Given the description of an element on the screen output the (x, y) to click on. 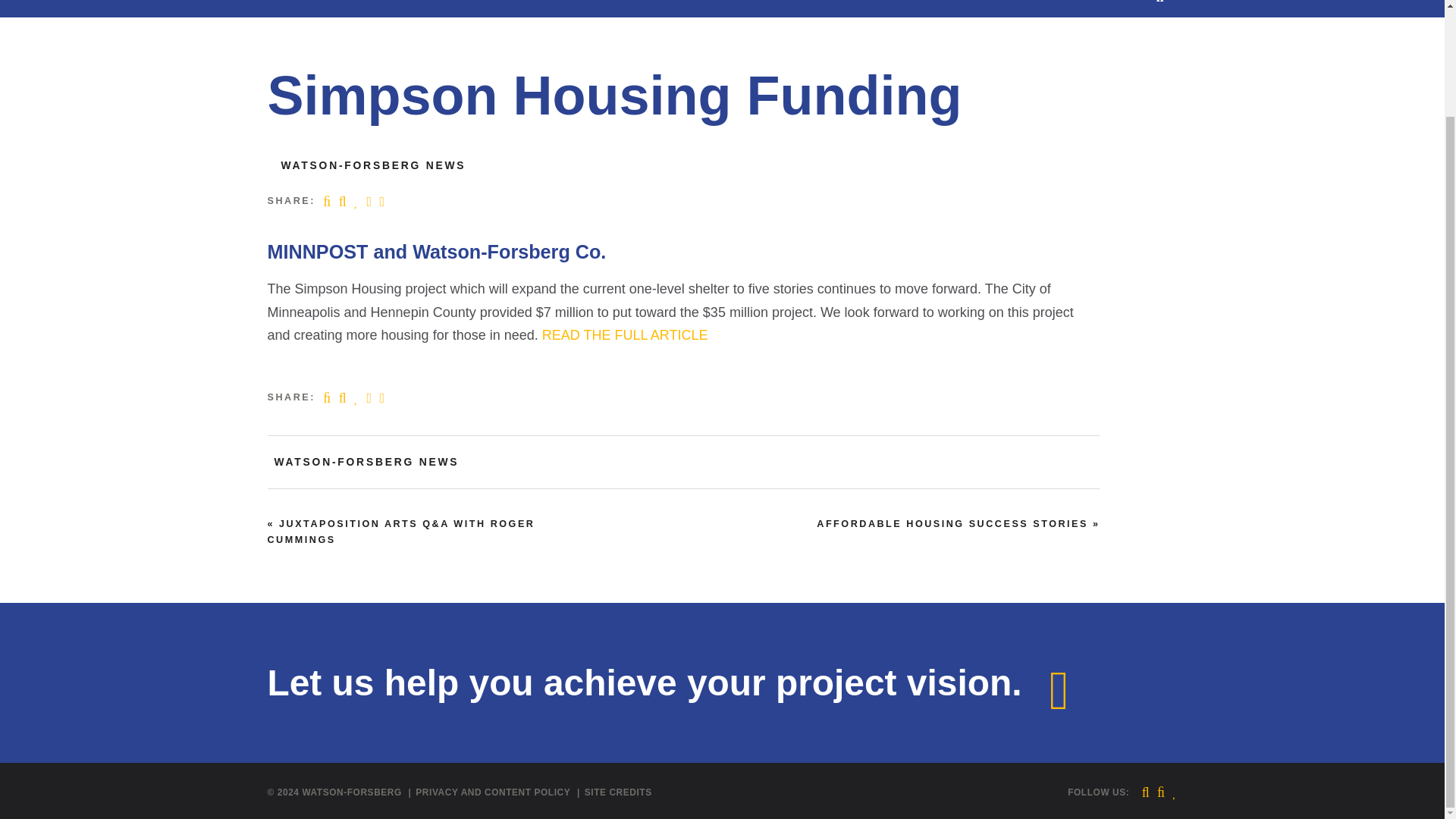
CONTRACTOR SERVICES (448, 8)
AREAS OF EXPERTISE (614, 8)
PROJECT EXPERIENCE (770, 8)
WATSON-FORSBERG NEWS (373, 164)
IN THE NEWS (897, 8)
WHO WE ARE (307, 8)
READ THE FULL ARTICLE (624, 335)
